Given the description of an element on the screen output the (x, y) to click on. 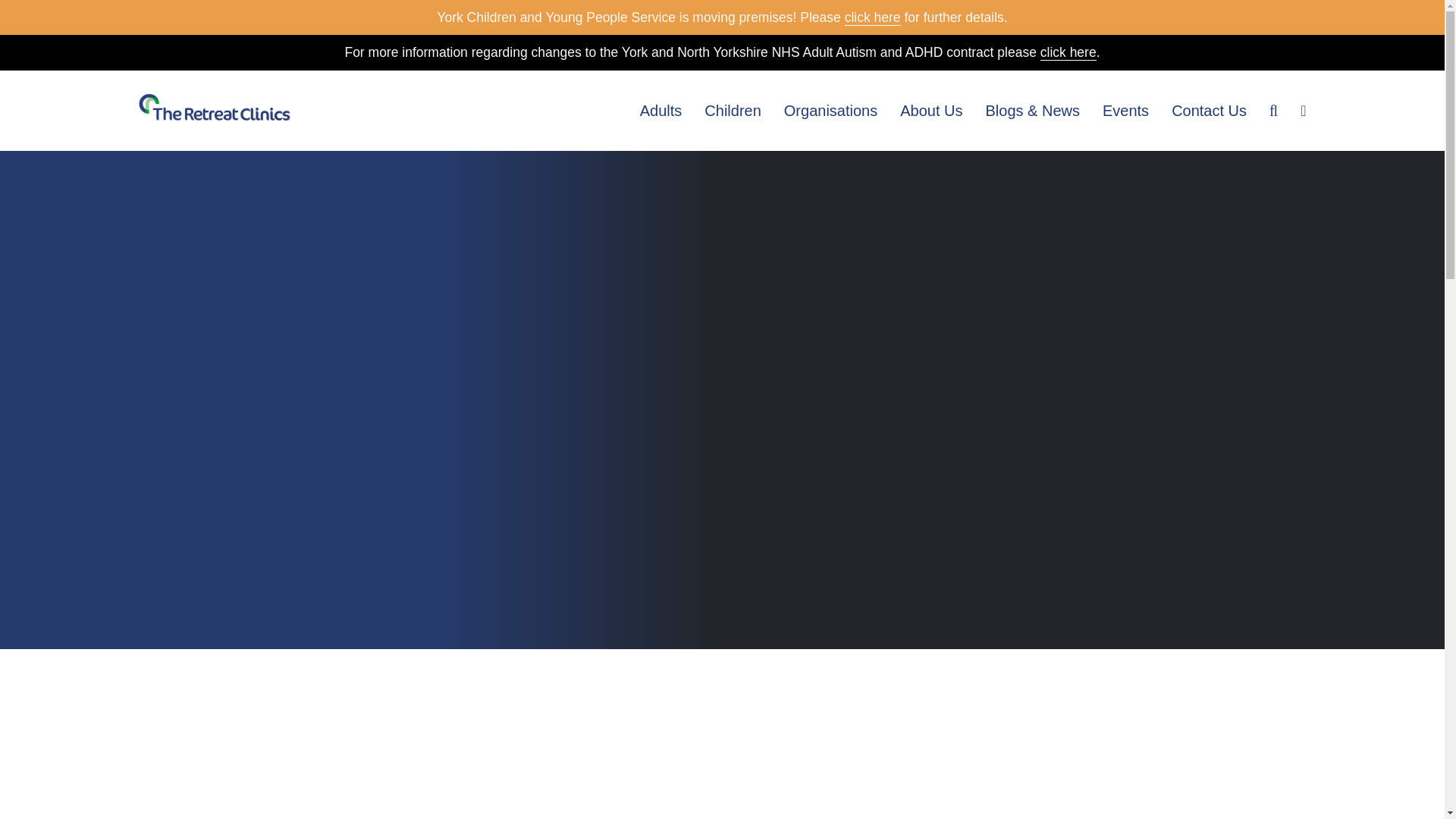
Children (732, 110)
Adults (661, 110)
Organisations (830, 110)
About Us (930, 110)
Events (1125, 110)
click here (1068, 52)
Contact Us (1209, 110)
click here (872, 17)
Home (213, 109)
